Given the description of an element on the screen output the (x, y) to click on. 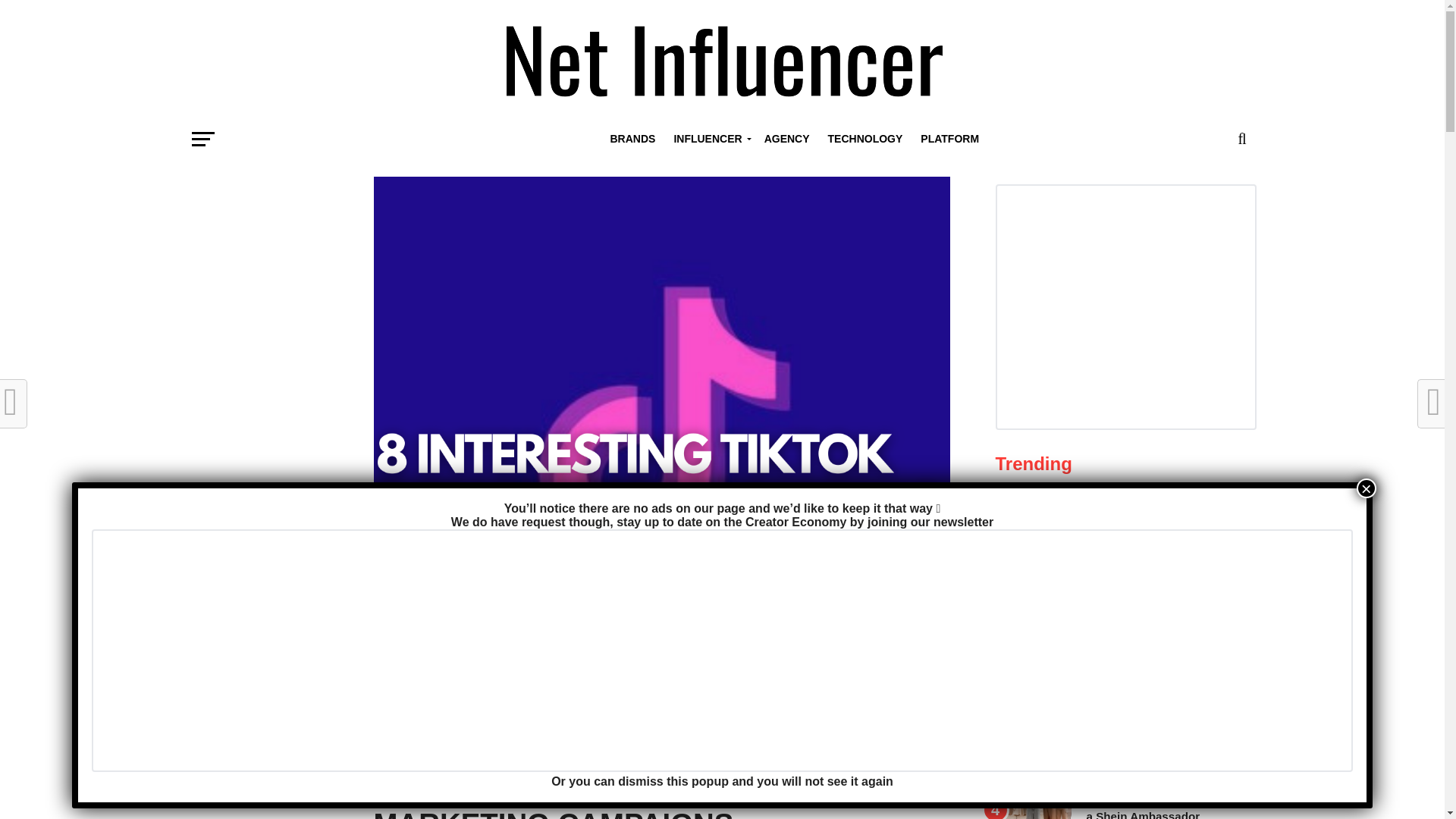
PLATFORM (949, 138)
BRANDS (631, 138)
INFLUENCER (708, 138)
AGENCY (786, 138)
TECHNOLOGY (865, 138)
